Given the description of an element on the screen output the (x, y) to click on. 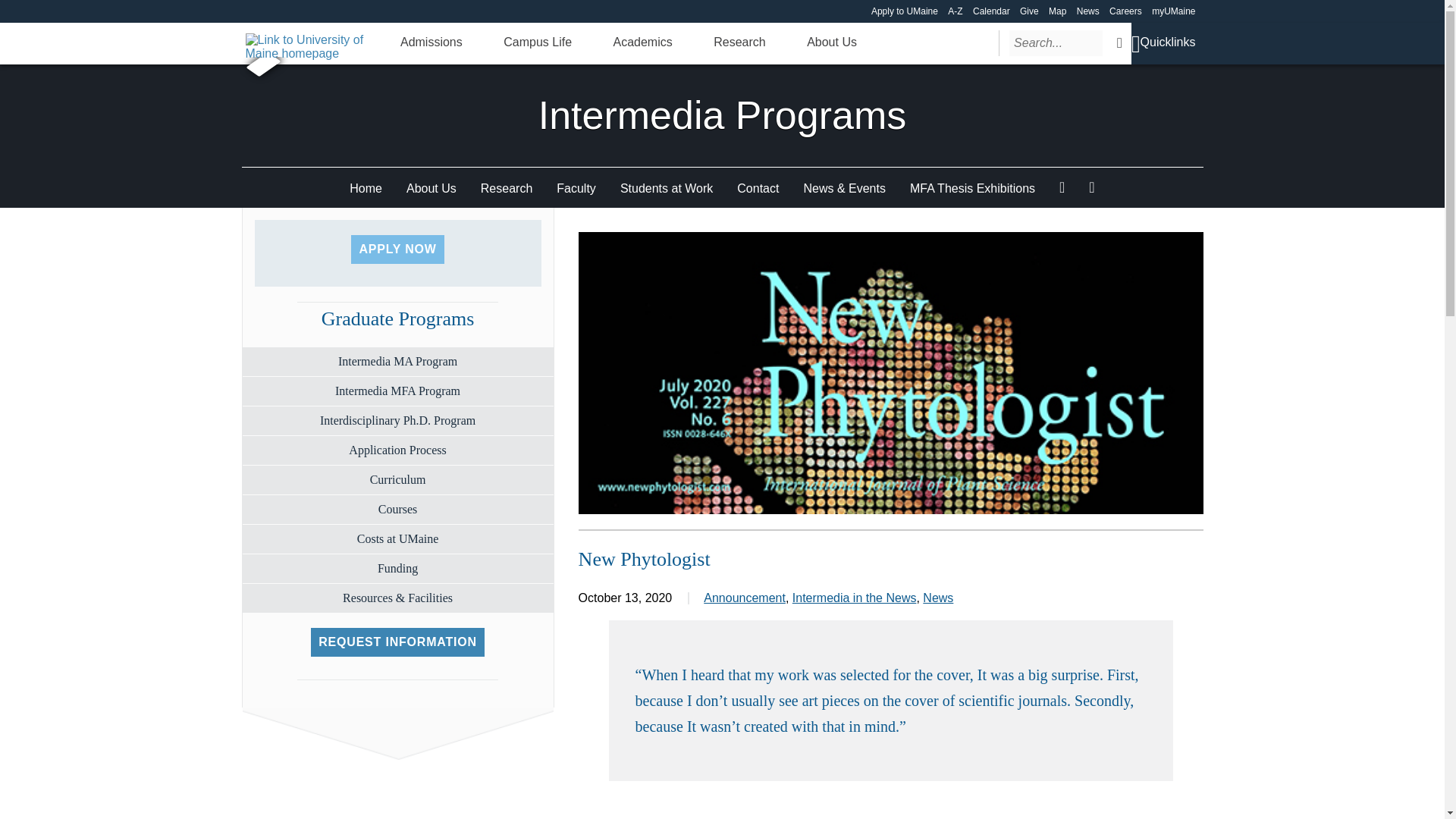
myUMaine (1173, 10)
Apply to UMaine (903, 10)
Careers (1125, 10)
Admissions (431, 42)
News (1088, 10)
Search for: (1055, 43)
Map (1056, 10)
Search (1119, 42)
A-Z (954, 10)
Calendar (991, 10)
Give (1029, 10)
